Given the description of an element on the screen output the (x, y) to click on. 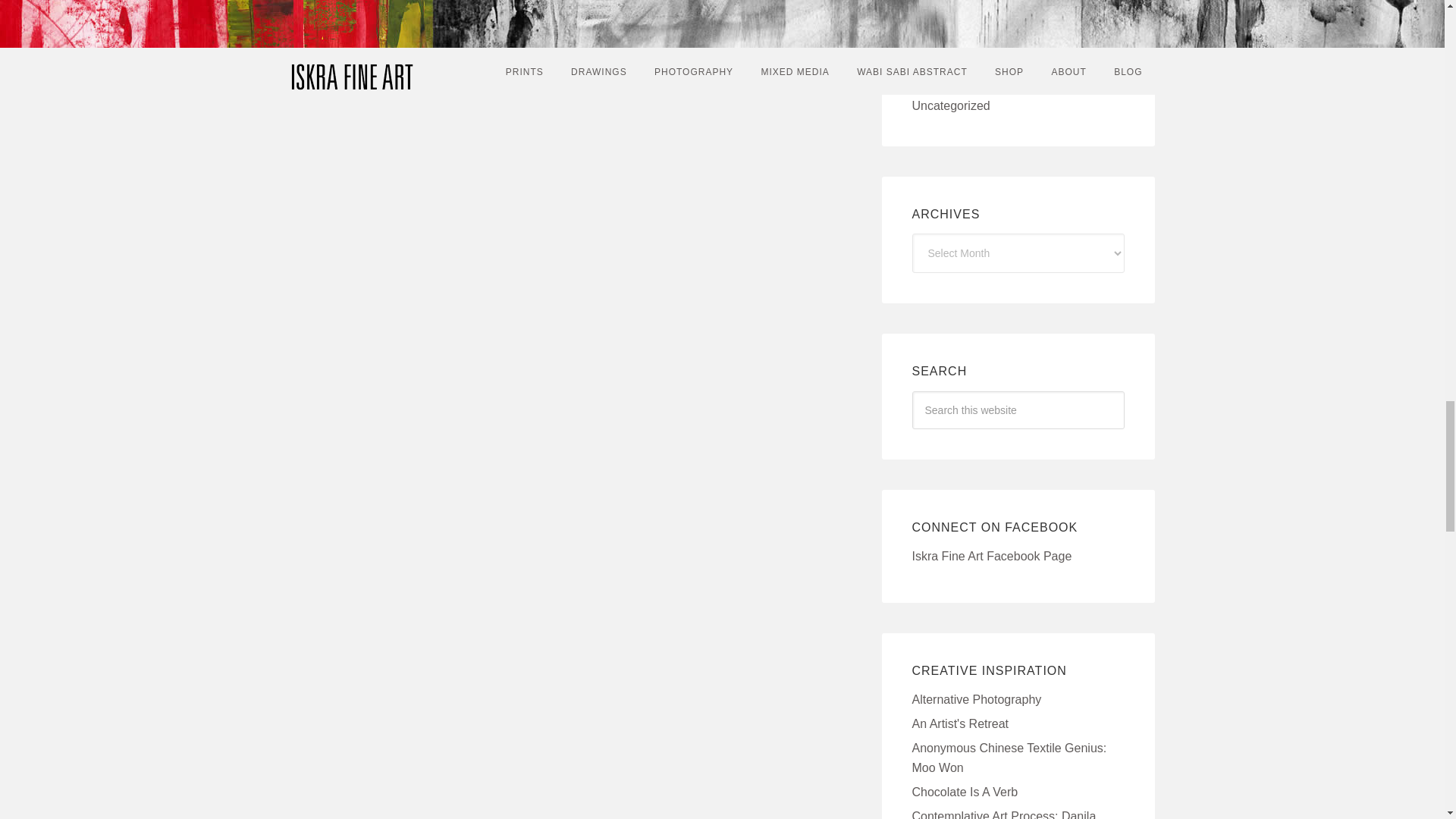
Sumptuous and life changing artist retreats with Ann Rhodes  (960, 723)
Words to wake you up from the gifted Judy Kleinberg (964, 791)
